Given the description of an element on the screen output the (x, y) to click on. 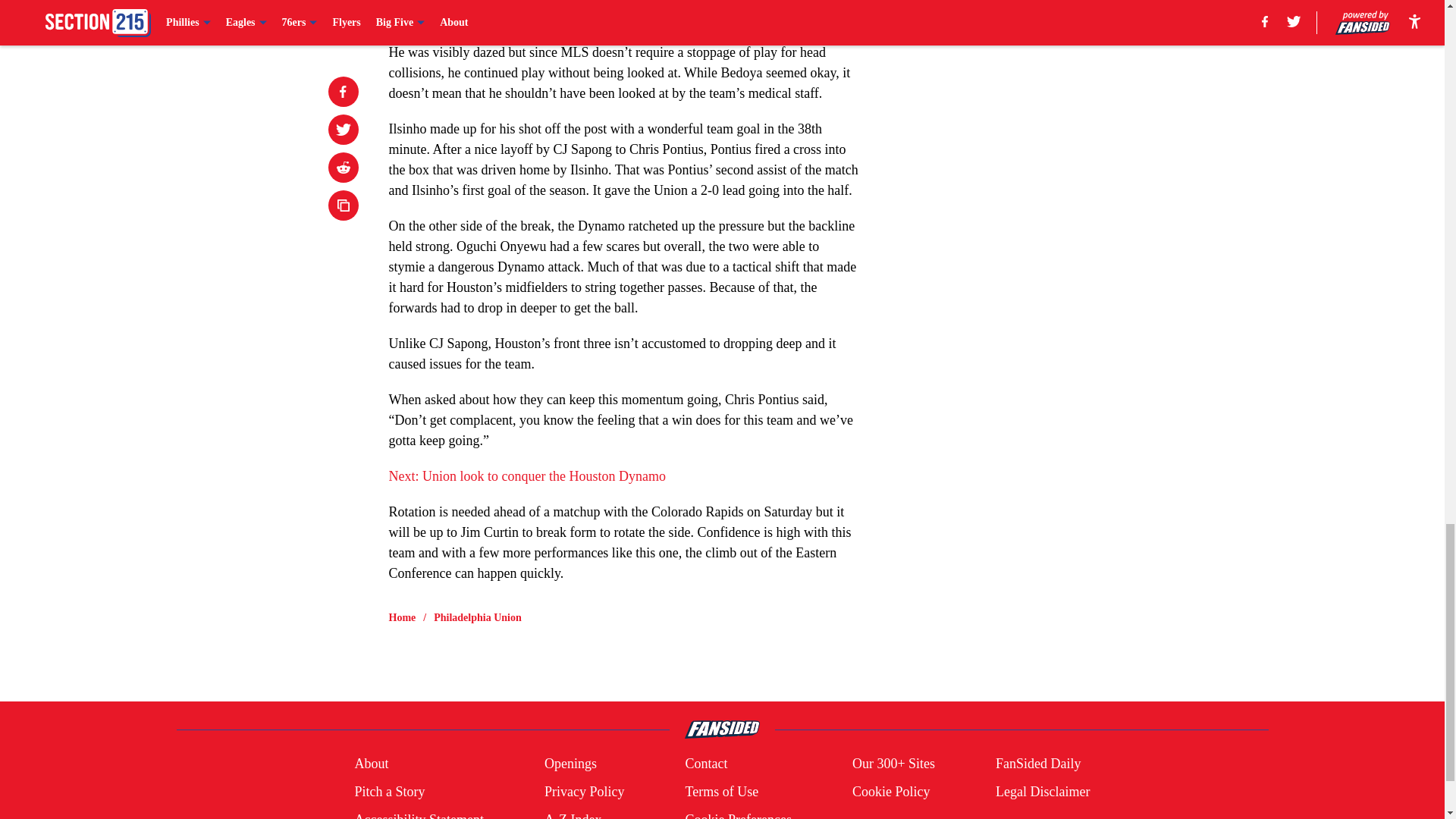
Philadelphia Union (477, 617)
Next: Union look to conquer the Houston Dynamo (526, 476)
Privacy Policy (584, 792)
About (370, 763)
Contact (705, 763)
Pitch a Story (389, 792)
FanSided Daily (1038, 763)
Openings (570, 763)
Home (401, 617)
